Given the description of an element on the screen output the (x, y) to click on. 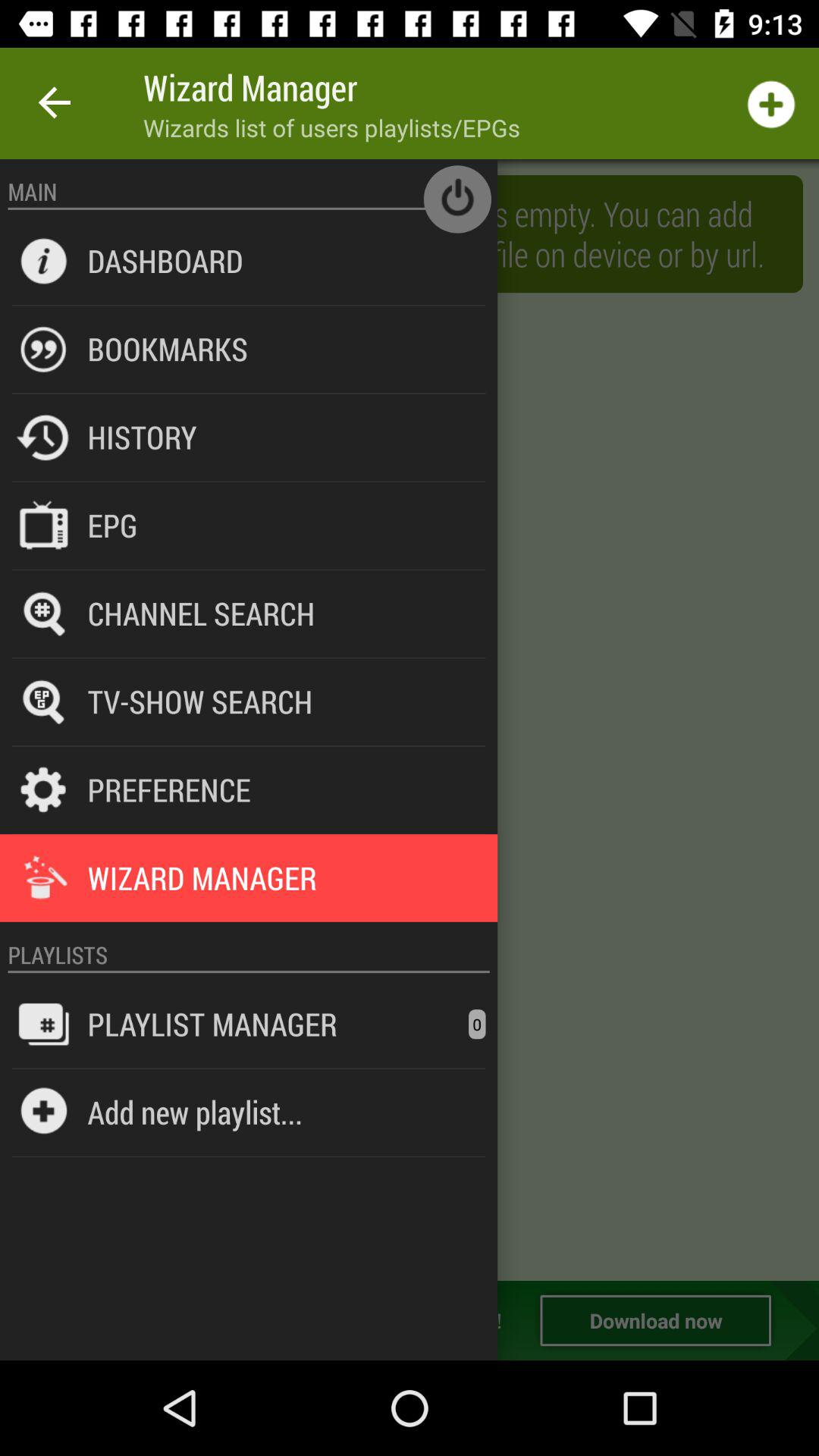
press bookmarks item (167, 348)
